Given the description of an element on the screen output the (x, y) to click on. 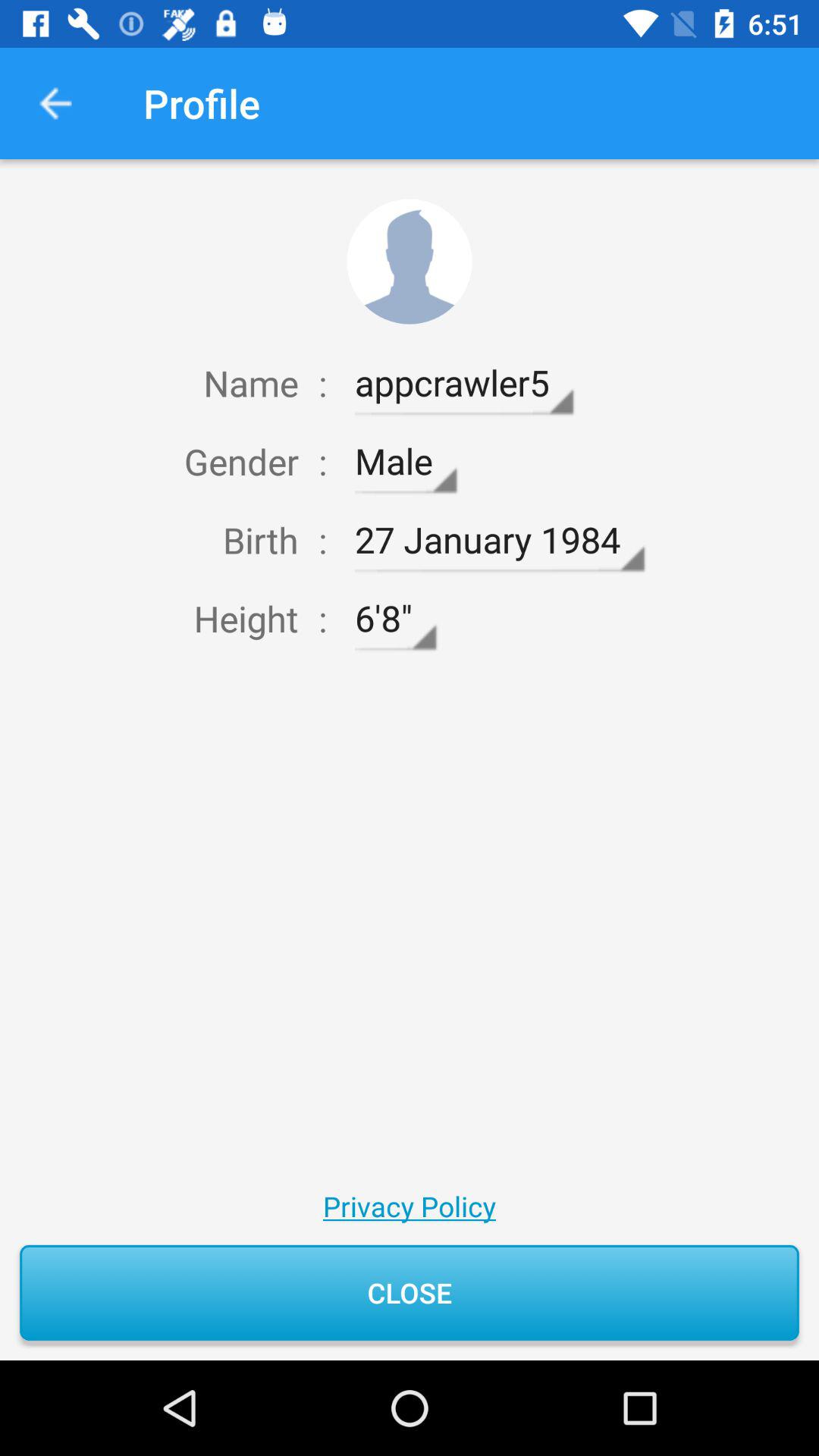
open the 6'8" (395, 618)
